Given the description of an element on the screen output the (x, y) to click on. 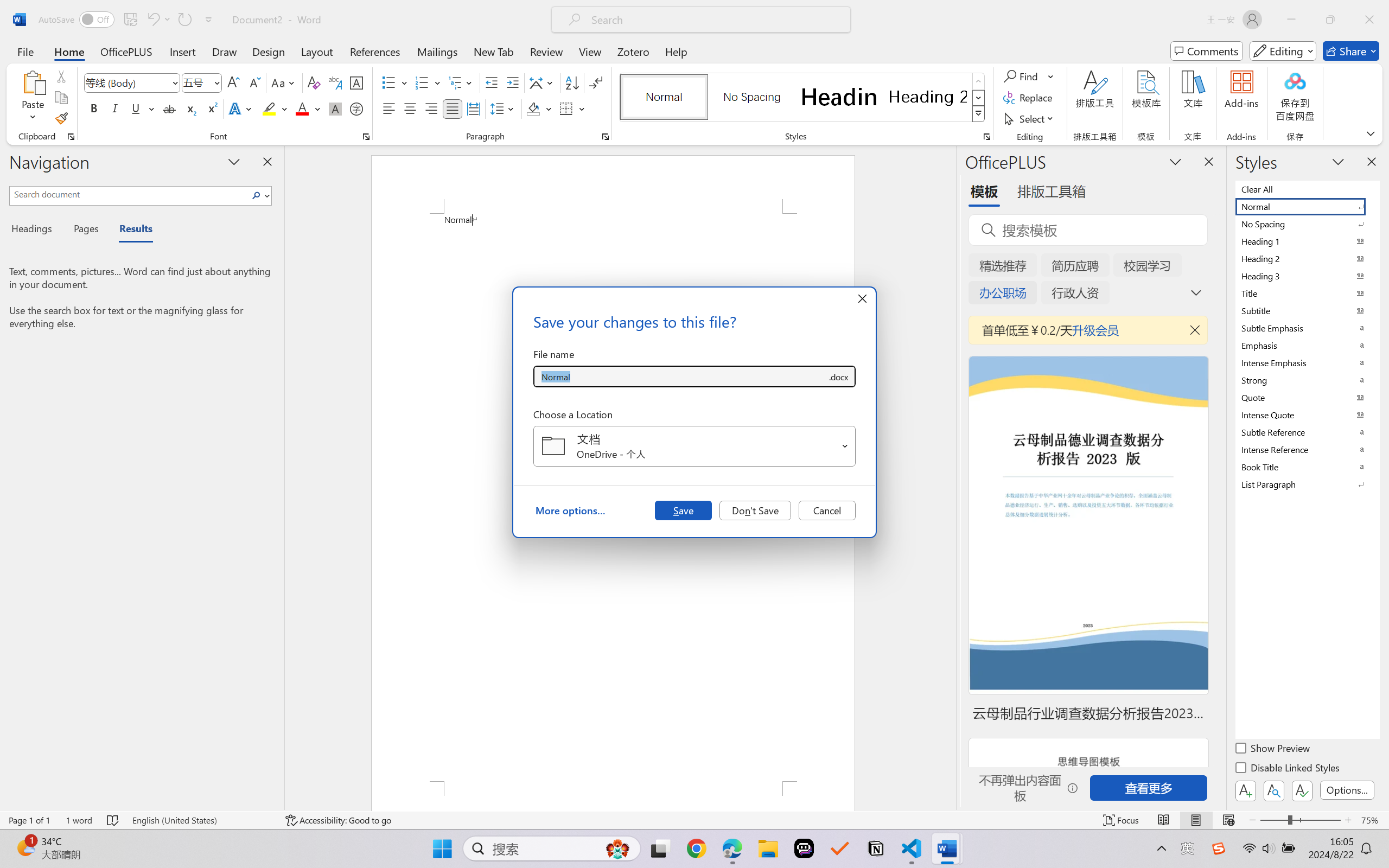
Text Highlight Color Yellow (269, 108)
Asian Layout (542, 82)
Distributed (473, 108)
Strong (1306, 379)
Quote (1306, 397)
Sort... (571, 82)
Font Size (196, 82)
Multilevel List (461, 82)
More Options (1051, 75)
